Given the description of an element on the screen output the (x, y) to click on. 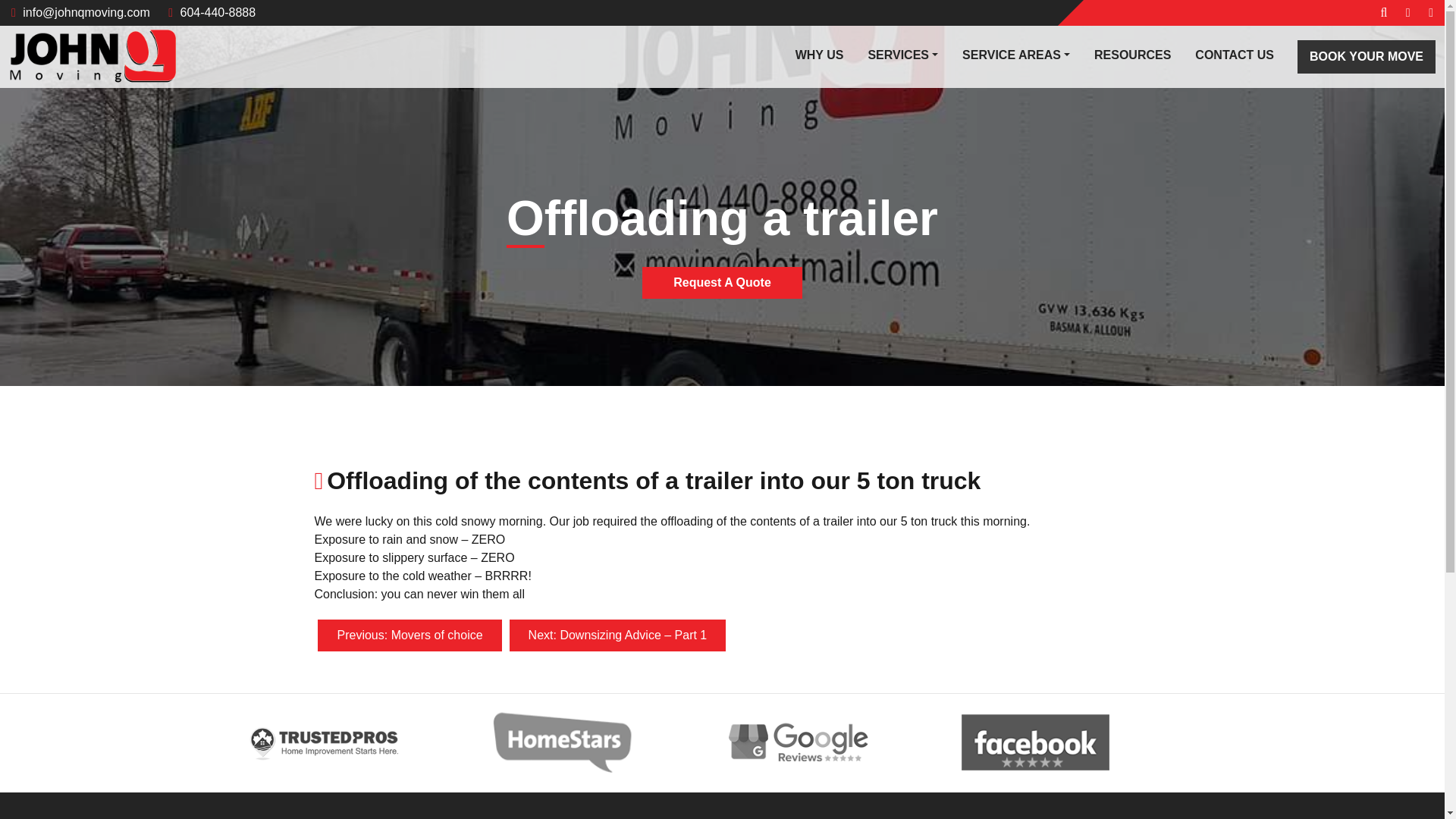
RESOURCES (1131, 55)
Previous: Movers of choice (408, 635)
CONTACT US (1233, 55)
BOOK YOUR MOVE (1366, 56)
SERVICES (903, 55)
Request A Quote (722, 282)
604-440-8888 (212, 11)
SERVICE AREAS (1015, 55)
WHY US (819, 55)
